Given the description of an element on the screen output the (x, y) to click on. 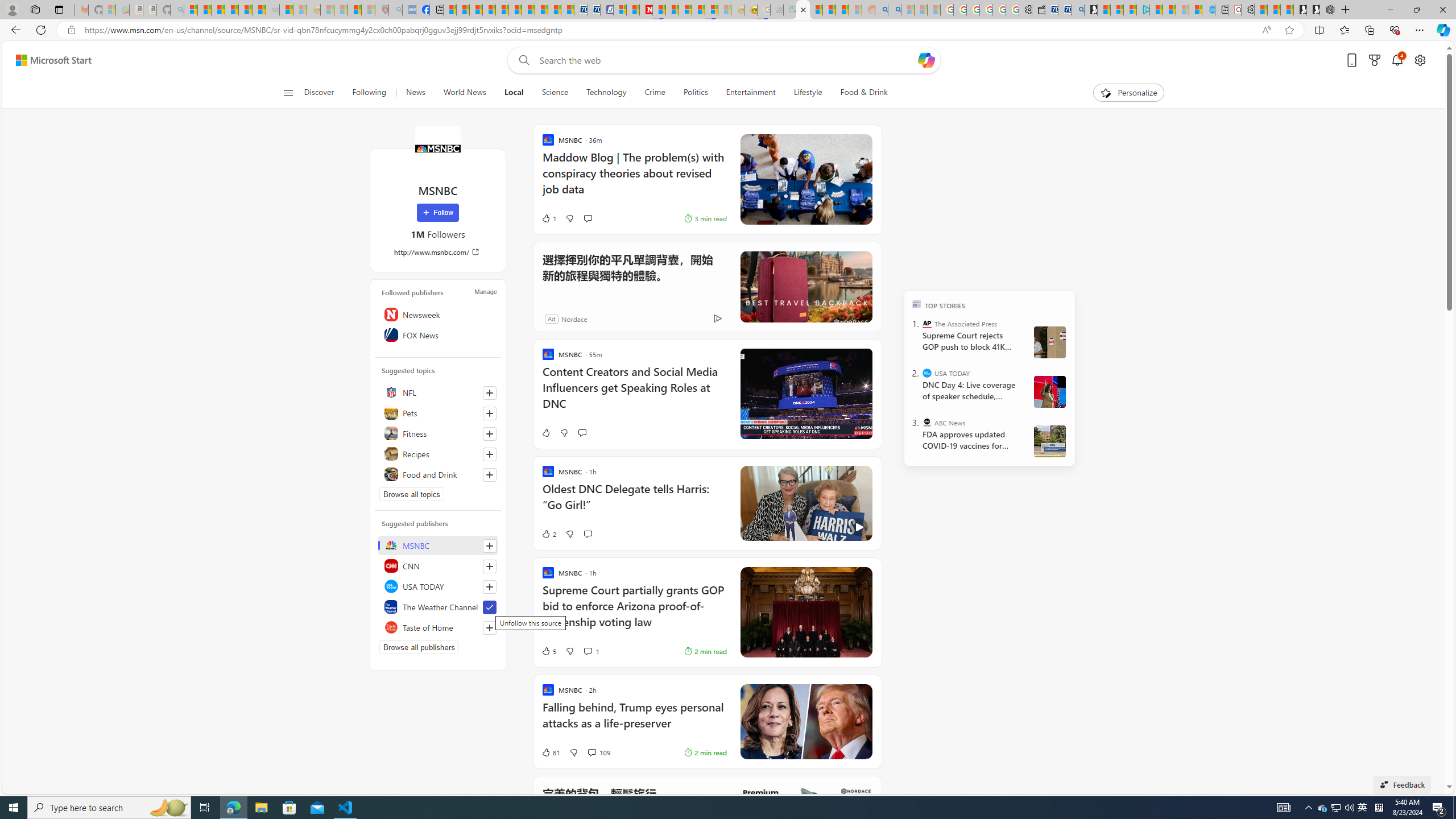
USA TODAY (437, 586)
Food and Drink (437, 474)
Enter your search term (726, 59)
The Associated Press (927, 323)
